Given the description of an element on the screen output the (x, y) to click on. 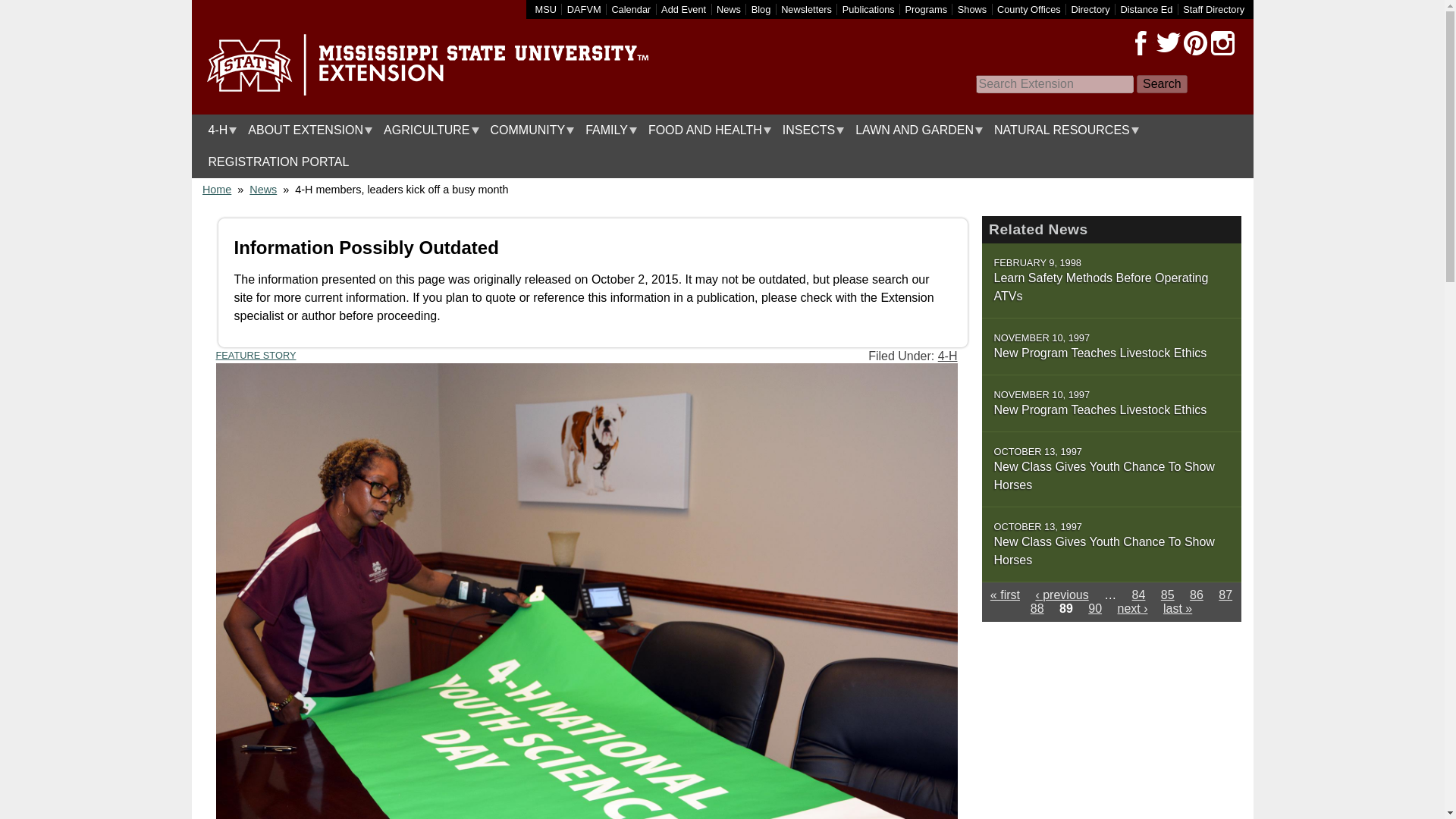
Search (1162, 84)
List of Extension Programs (926, 9)
Add Event (683, 9)
Staff Directory (1213, 9)
Instagram (1221, 43)
Find a county extension office (1029, 9)
Newsletters (805, 9)
County Offices (1029, 9)
Twitter (1167, 43)
4-H (218, 130)
The main event calendar for the MSU Extension Service (630, 9)
News (728, 9)
Calendar (630, 9)
DAFVM (584, 9)
